Given the description of an element on the screen output the (x, y) to click on. 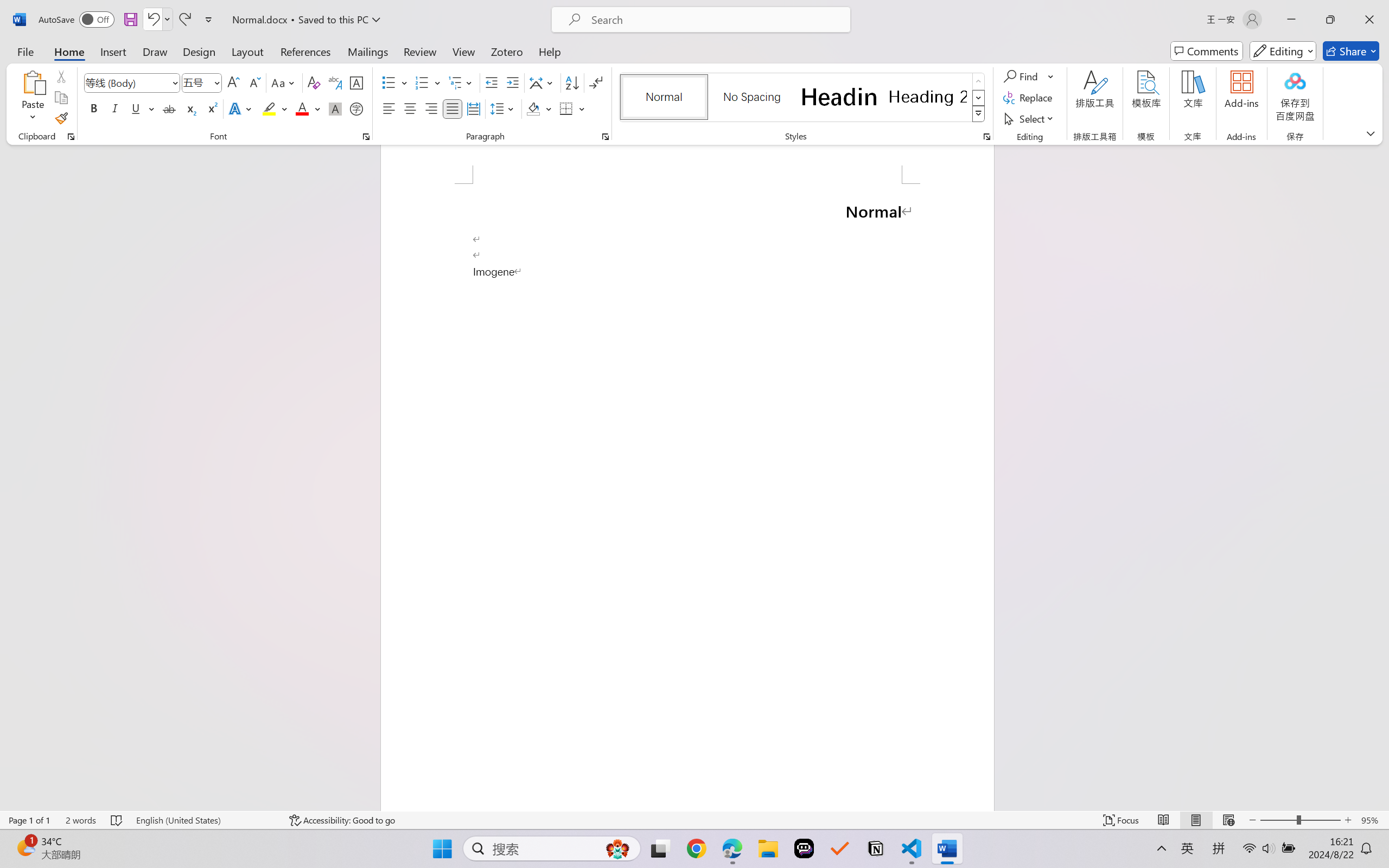
Align Left (388, 108)
Enclose Characters... (356, 108)
Cut (60, 75)
Grow Font (233, 82)
Italic (115, 108)
Shrink Font (253, 82)
Asian Layout (542, 82)
Font Color (308, 108)
Class: MsoCommandBar (694, 819)
